Given the description of an element on the screen output the (x, y) to click on. 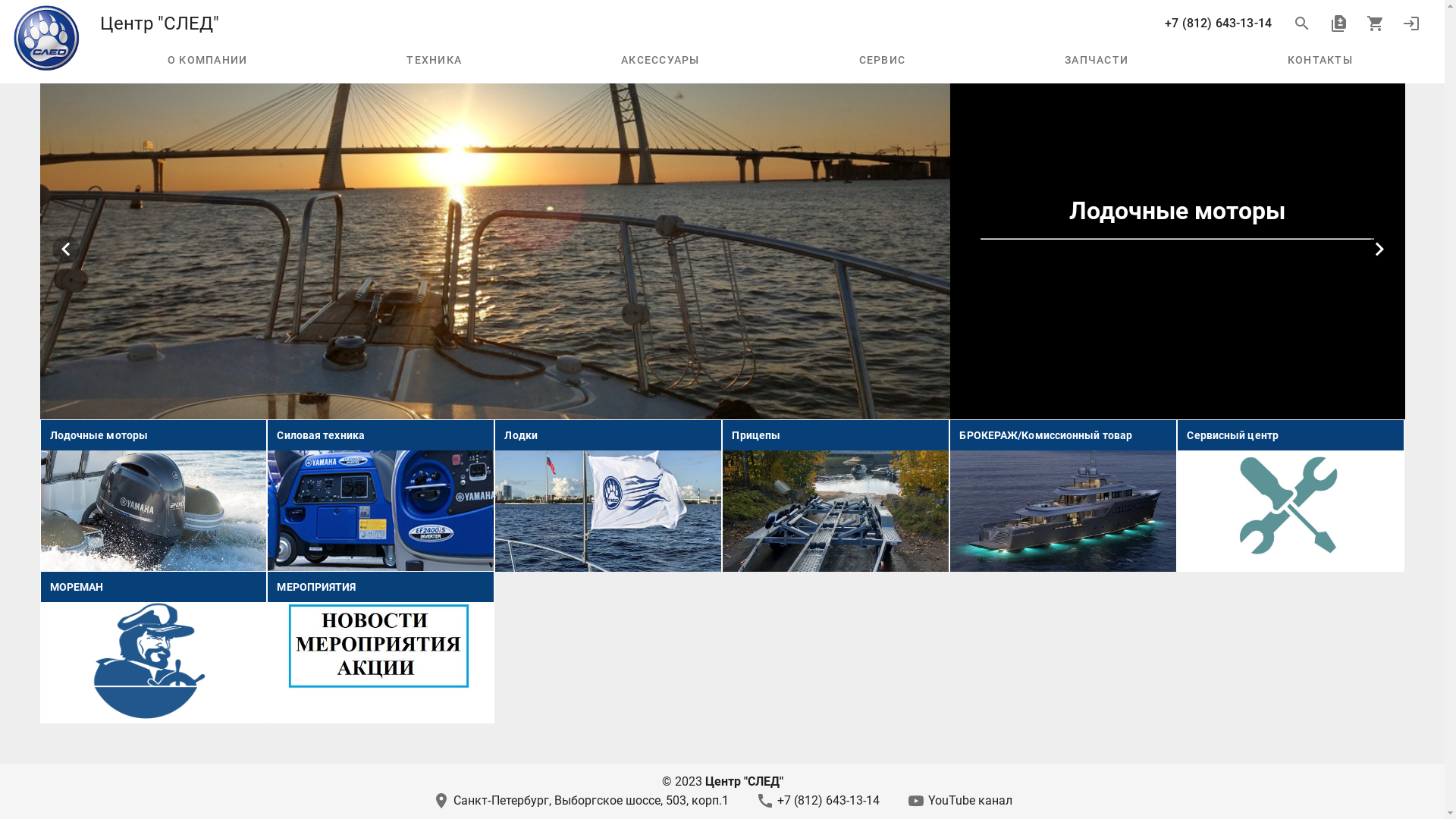
search Element type: text (1301, 23)
call
+7 (812) 643-13-14 Element type: text (817, 799)
login Element type: text (1411, 23)
+7 (812) 643-13-14 Element type: text (1217, 23)
difference Element type: text (1338, 23)
shopping_cart Element type: text (1374, 23)
